Given the description of an element on the screen output the (x, y) to click on. 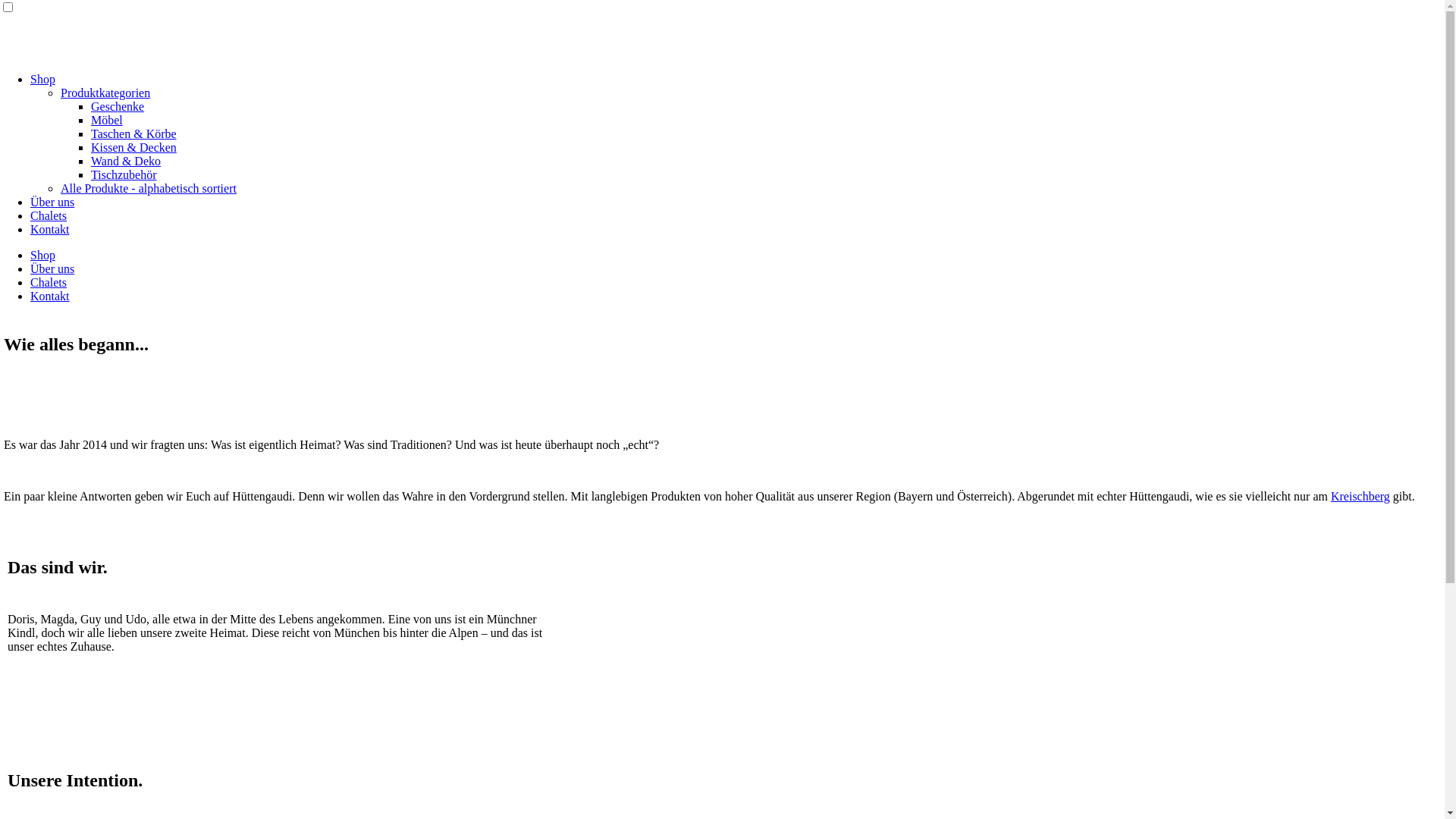
Geschenke Element type: text (117, 106)
Kontakt Element type: text (49, 295)
Kreischberg Element type: text (1360, 495)
Shop Element type: text (42, 78)
Chalets Element type: text (48, 282)
Wand & Deko Element type: text (125, 160)
Produktkategorien Element type: text (105, 92)
Kontakt Element type: text (49, 228)
Chalets Element type: text (48, 215)
Kissen & Decken Element type: text (133, 147)
Shop Element type: text (42, 254)
Alle Produkte - alphabetisch sortiert Element type: text (148, 188)
